Given the description of an element on the screen output the (x, y) to click on. 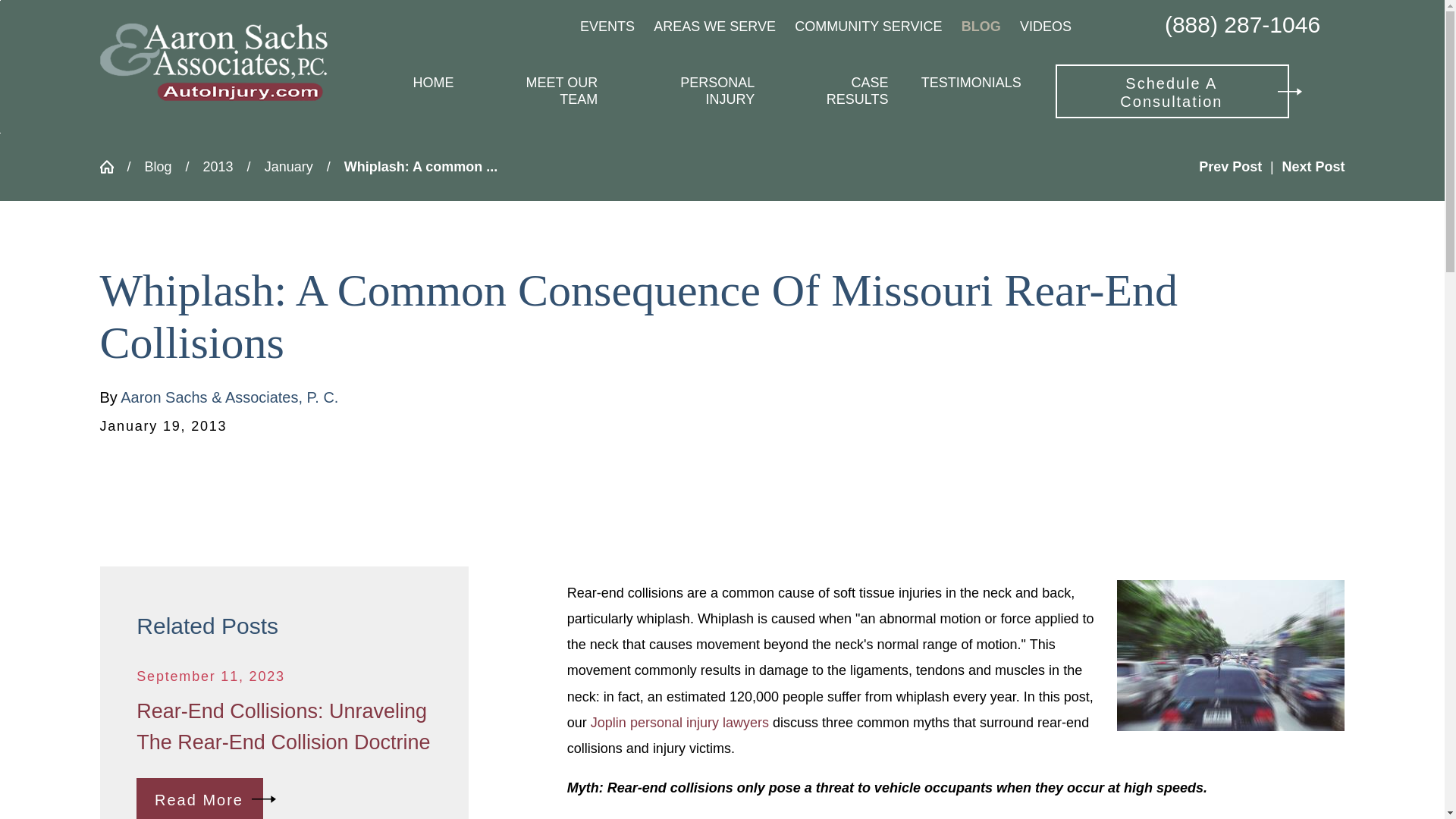
MEET OUR TEAM (541, 91)
VIDEOS (1045, 26)
EVENTS (606, 26)
COMMUNITY SERVICE (868, 26)
Go Home (114, 166)
PERSONAL INJURY (692, 91)
BLOG (980, 26)
AREAS WE SERVE (714, 26)
